Given the description of an element on the screen output the (x, y) to click on. 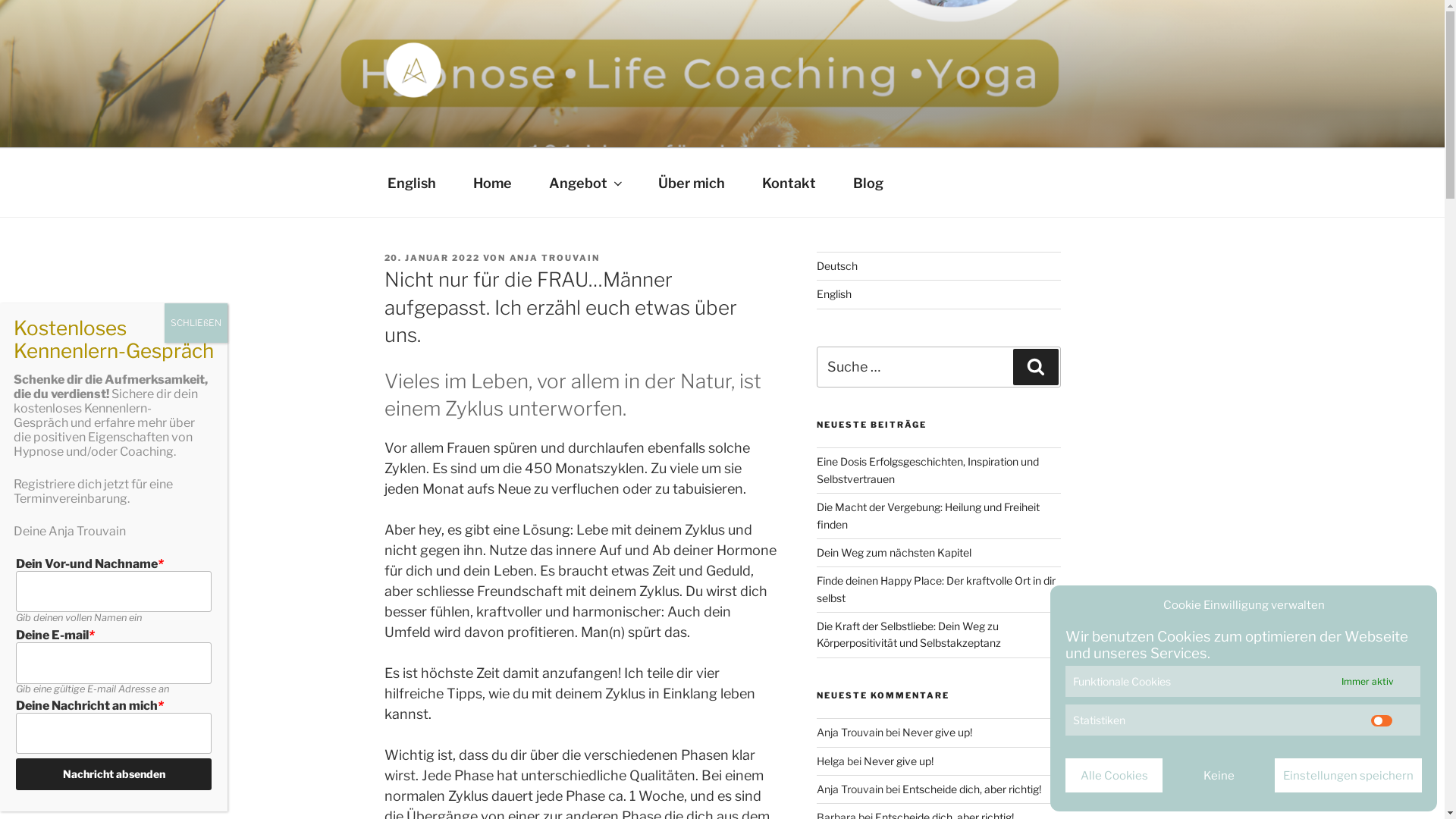
Home Element type: text (492, 183)
Never give up! Element type: text (937, 731)
20. JANUAR 2022 Element type: text (431, 257)
English Element type: text (411, 183)
Entscheide dich, aber richtig! Element type: text (971, 788)
Finde deinen Happy Place: Der kraftvolle Ort in dir selbst Element type: text (935, 588)
Nachricht absenden Element type: text (113, 774)
Never give up! Element type: text (898, 760)
English Element type: text (833, 293)
Blog Element type: text (867, 183)
ANJA TROUVAIN Element type: text (554, 257)
Kontakt Element type: text (788, 183)
Keine Element type: text (1218, 775)
Deutsch Element type: text (836, 265)
Angebot Element type: text (585, 183)
Alle Cookies Element type: text (1113, 775)
Die Macht der Vergebung: Heilung und Freiheit finden Element type: text (927, 515)
Suche Element type: text (1035, 366)
Anja Trouvain Element type: text (488, 123)
Einstellungen speichern Element type: text (1347, 775)
